Given the description of an element on the screen output the (x, y) to click on. 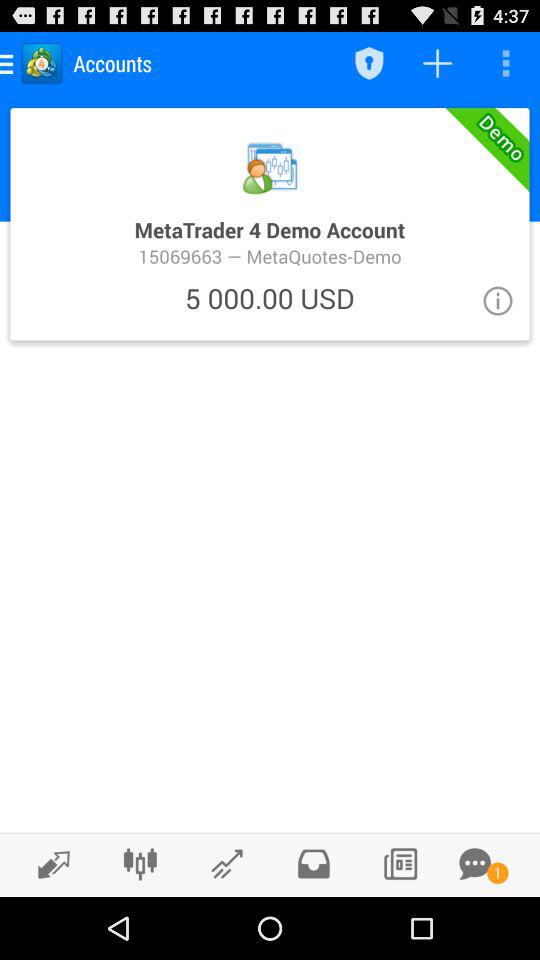
change graph type (140, 863)
